Given the description of an element on the screen output the (x, y) to click on. 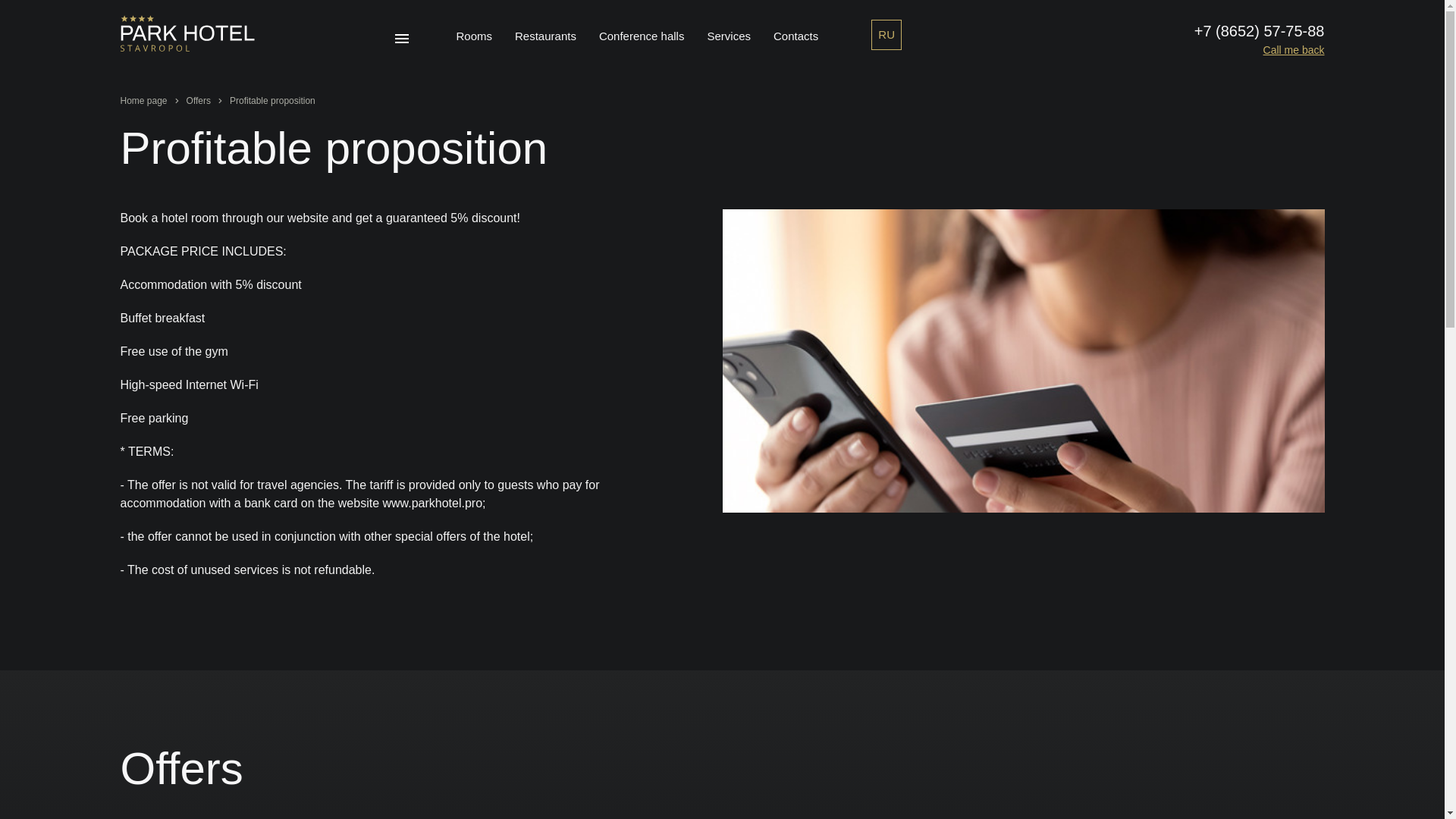
Call me back (1293, 49)
Rooms (475, 35)
Contacts (795, 35)
Restaurants (545, 35)
Offers (198, 101)
Conference halls (641, 35)
RU (885, 34)
Home page (143, 101)
Services (728, 35)
